Given the description of an element on the screen output the (x, y) to click on. 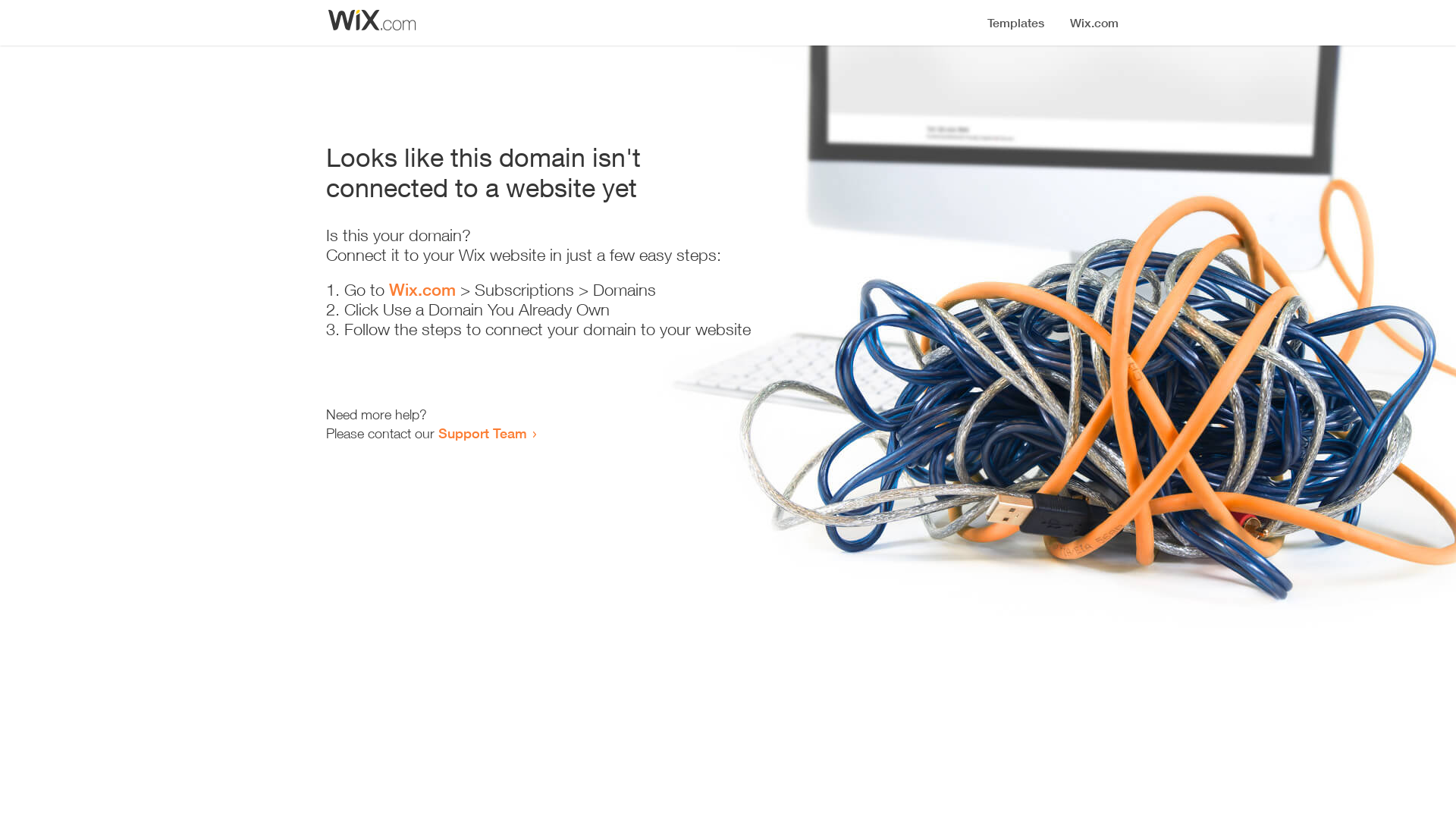
Wix.com Element type: text (422, 289)
Support Team Element type: text (482, 432)
